Given the description of an element on the screen output the (x, y) to click on. 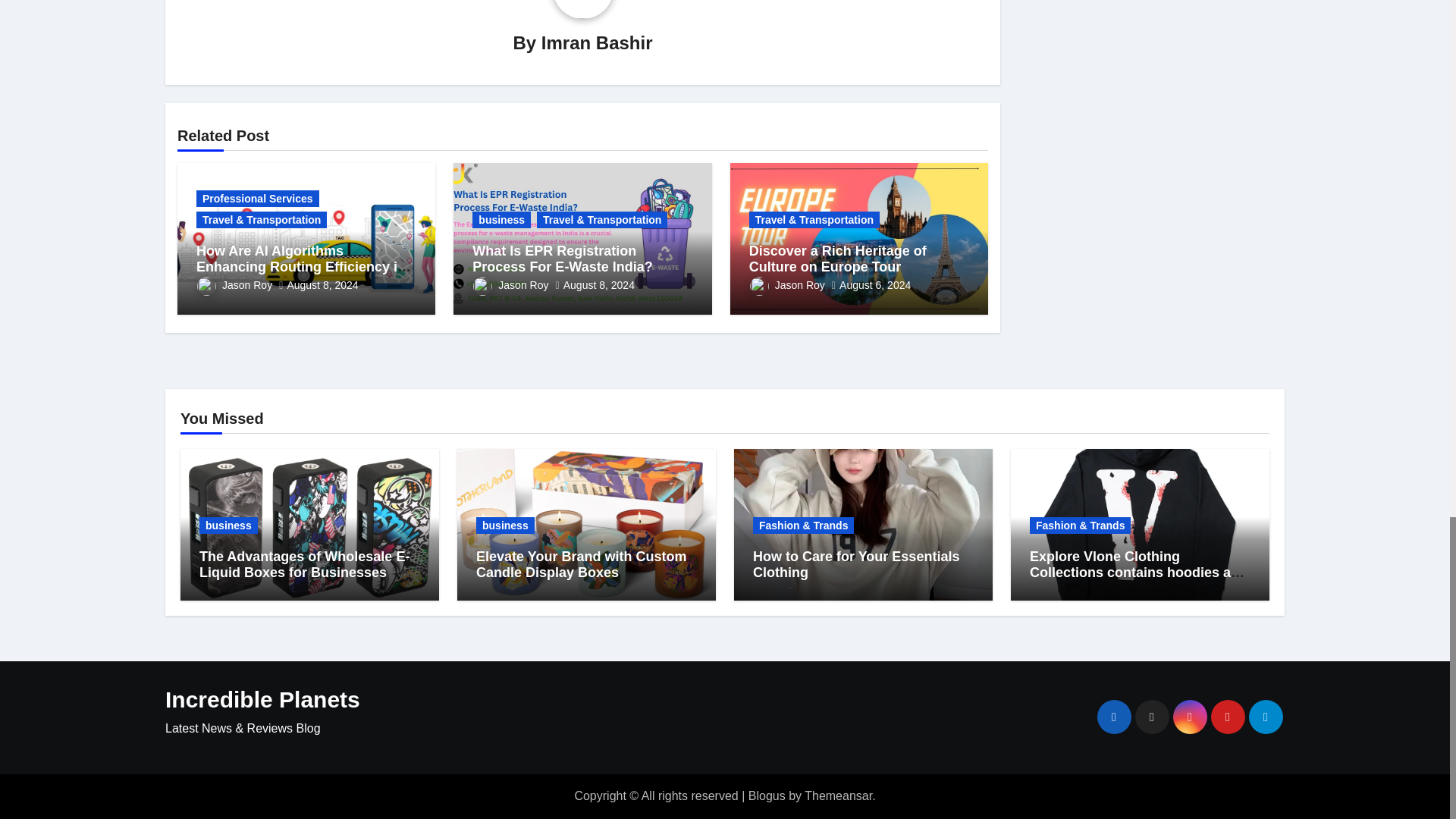
Permalink to: How to Care for Your Essentials Clothing (855, 564)
Professional Services (257, 198)
Imran Bashir (596, 42)
